Given the description of an element on the screen output the (x, y) to click on. 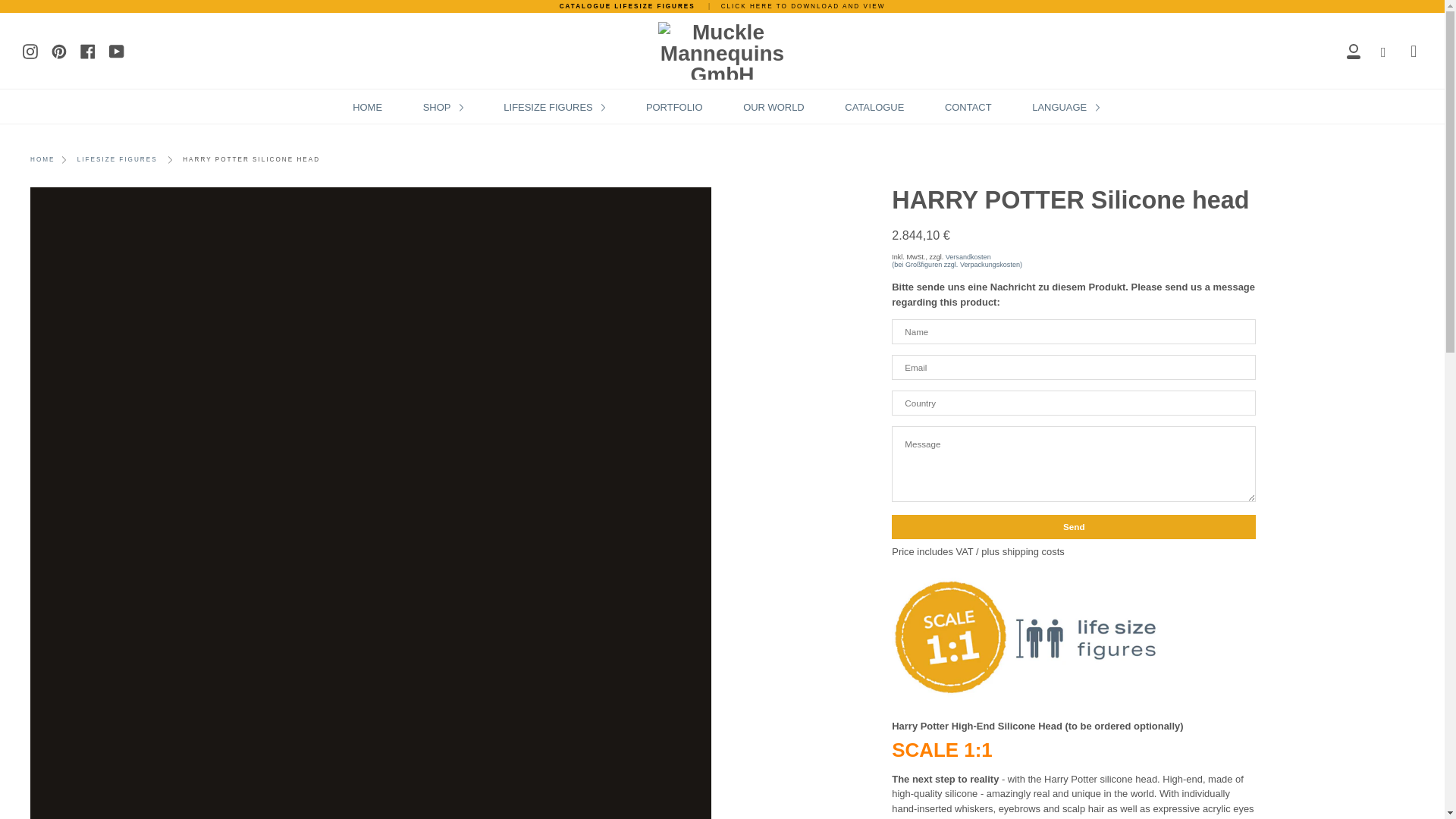
Muckle Mannequins GmbH on Pinterest (58, 49)
Muckle Mannequins GmbH on YouTube (116, 49)
Muckle Mannequins GmbH on Facebook (88, 49)
HOME (367, 106)
Facebook (88, 49)
YouTube (116, 49)
Instagram (30, 49)
Muckle Mannequins GmbH on Instagram (30, 49)
SHOP (443, 106)
Pinterest (58, 49)
